Given the description of an element on the screen output the (x, y) to click on. 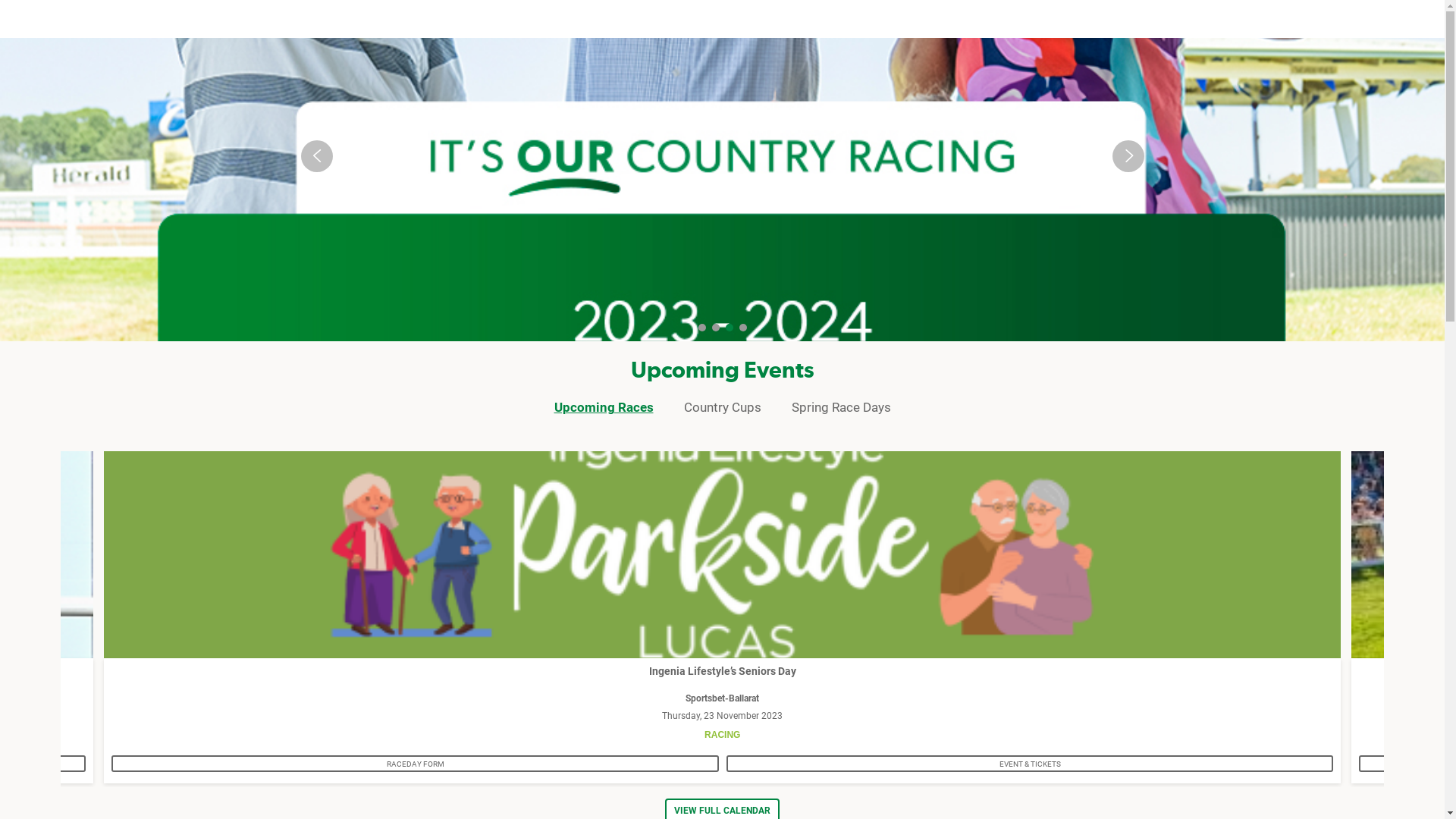
EVENT & TICKETS Element type: text (1029, 763)
RACEDAY FORM Element type: text (414, 763)
